Given the description of an element on the screen output the (x, y) to click on. 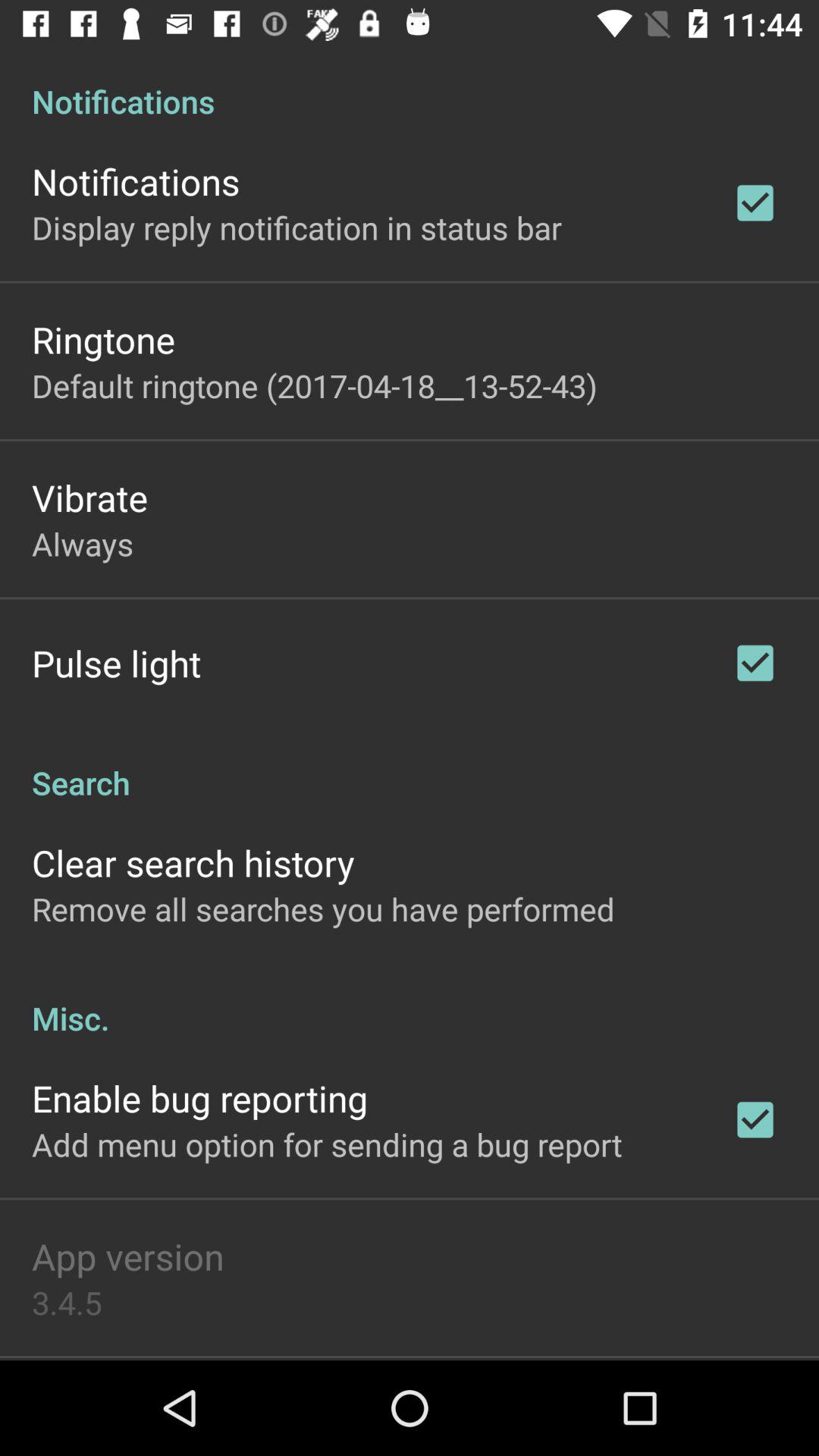
turn off the enable bug reporting icon (199, 1097)
